Given the description of an element on the screen output the (x, y) to click on. 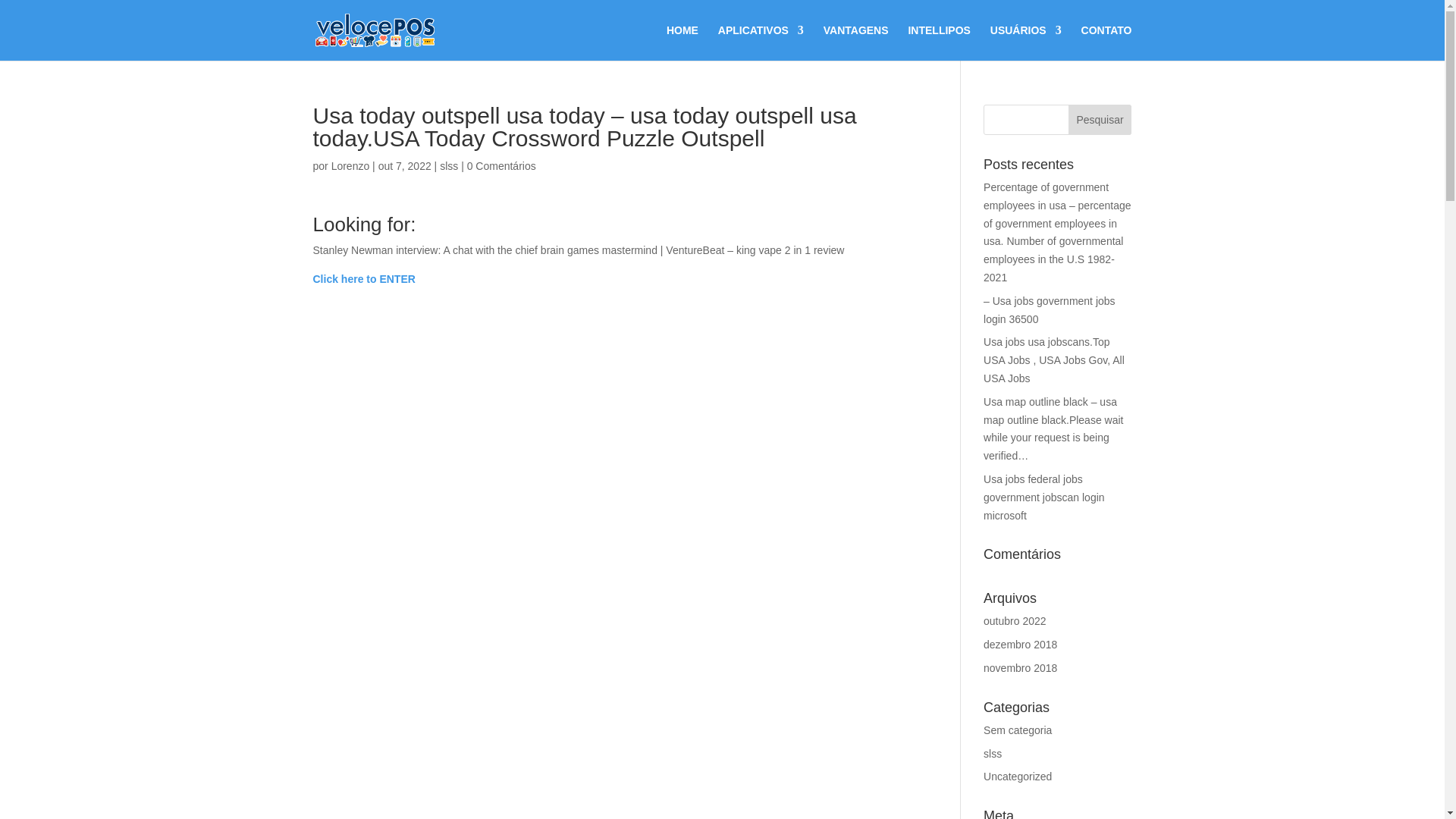
Click here to ENTER (363, 278)
CONTATO (1106, 42)
INTELLIPOS (938, 42)
Pesquisar (1100, 119)
HOME (682, 42)
Postagem de Lorenzo (350, 165)
APLICATIVOS (760, 42)
VANTAGENS (856, 42)
Lorenzo (350, 165)
slss (448, 165)
